Given the description of an element on the screen output the (x, y) to click on. 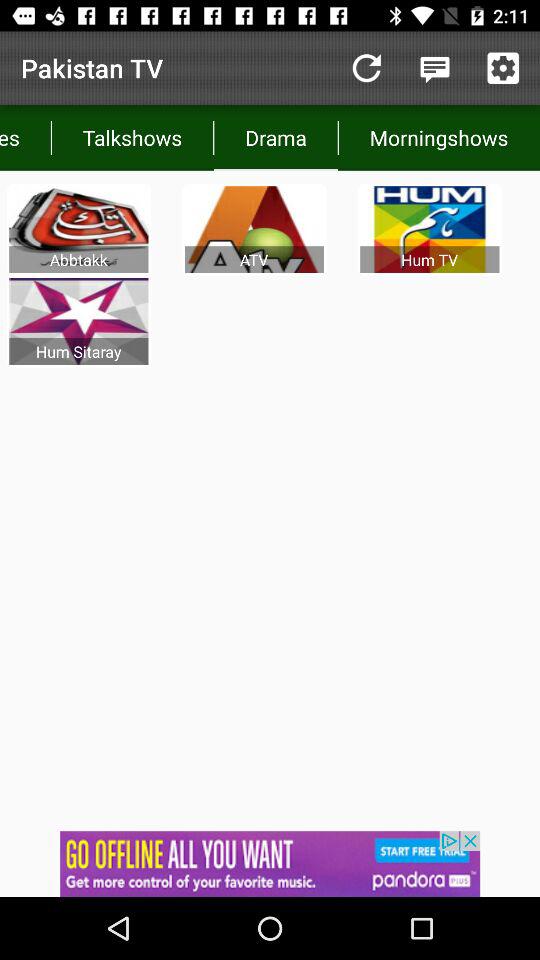
reload page (366, 67)
